Given the description of an element on the screen output the (x, y) to click on. 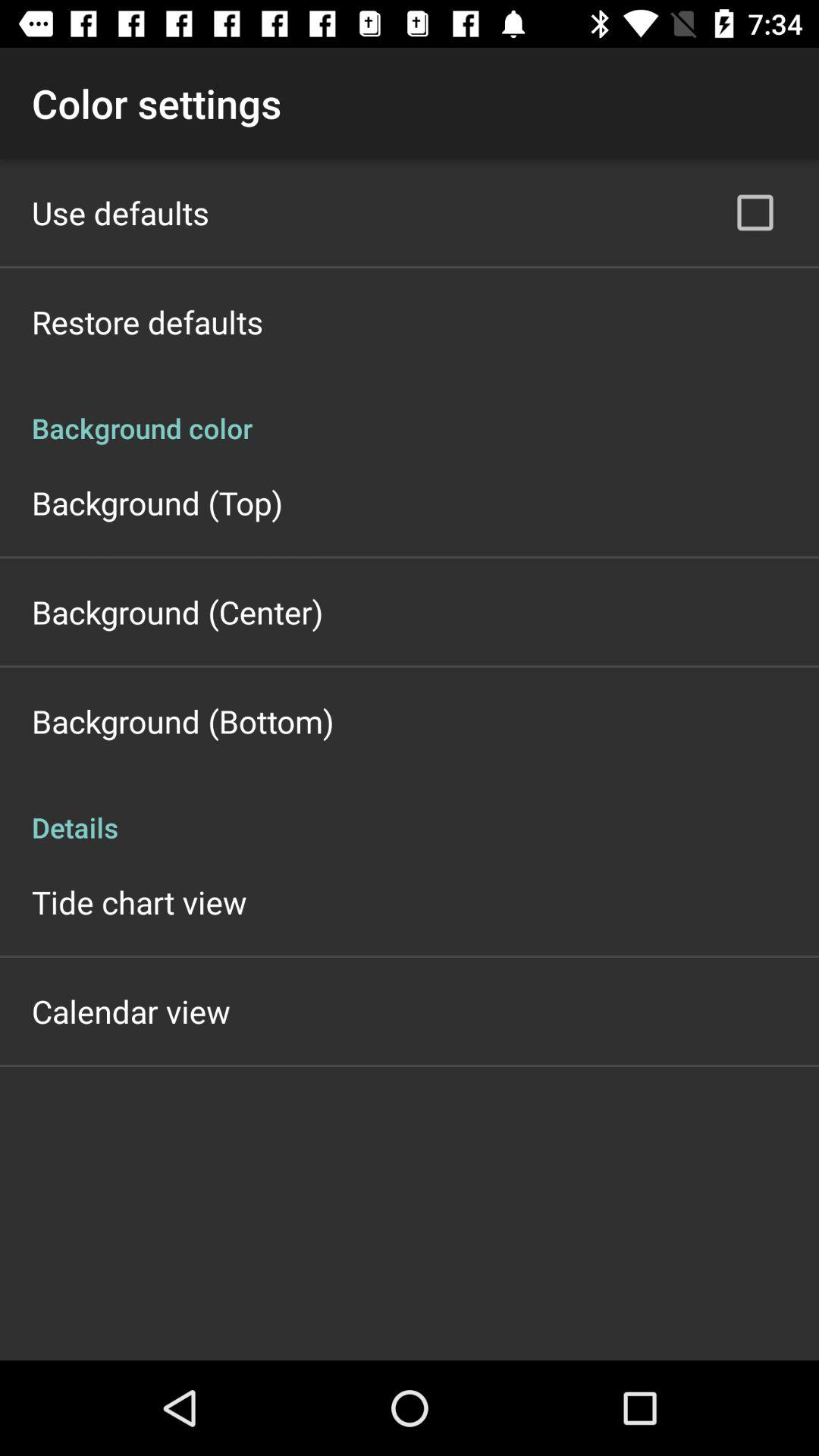
tap item above the background (top) (409, 412)
